Given the description of an element on the screen output the (x, y) to click on. 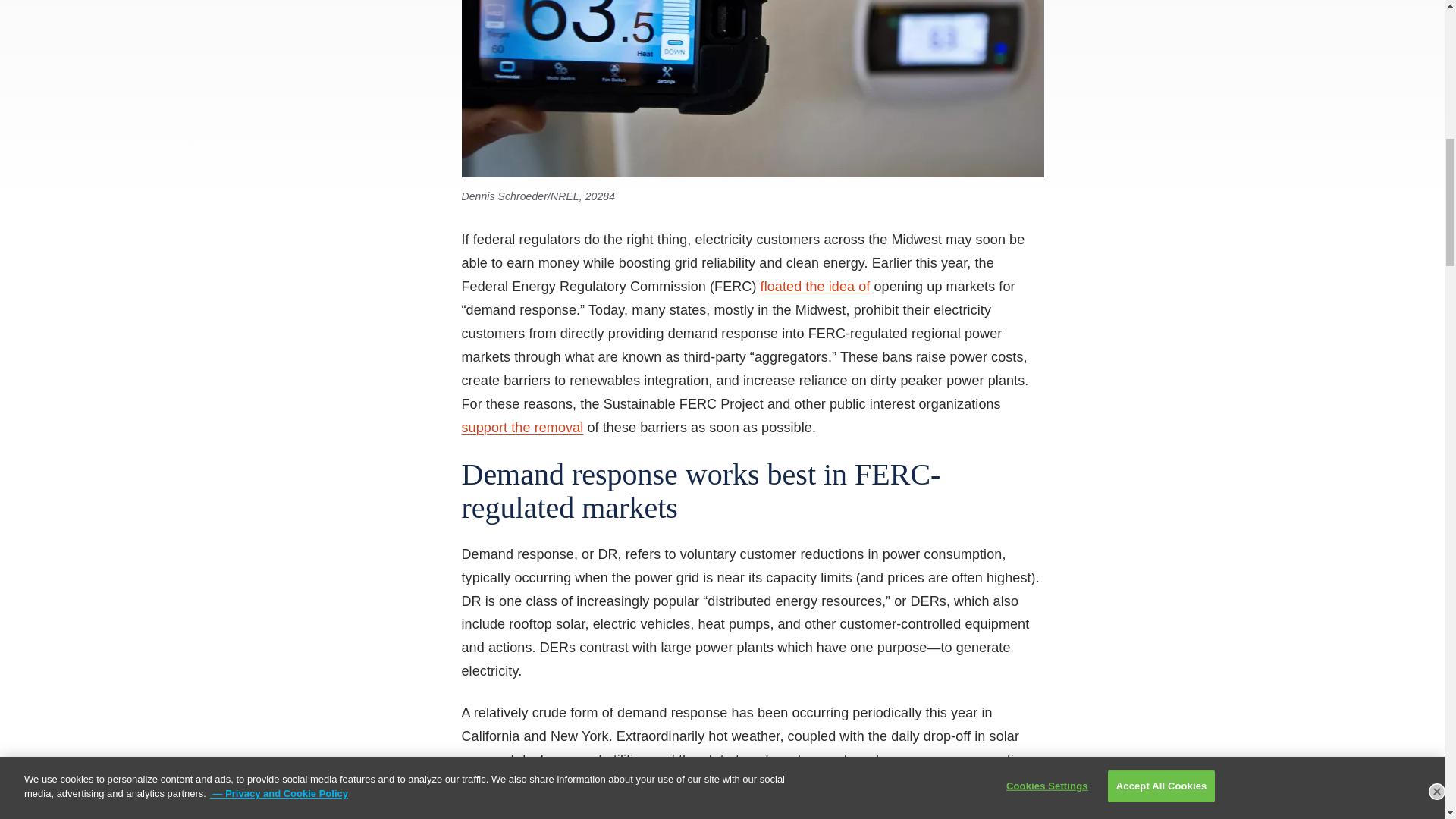
Share this page block (180, 1)
Share this page block (149, 1)
Share this page block (210, 1)
